Given the description of an element on the screen output the (x, y) to click on. 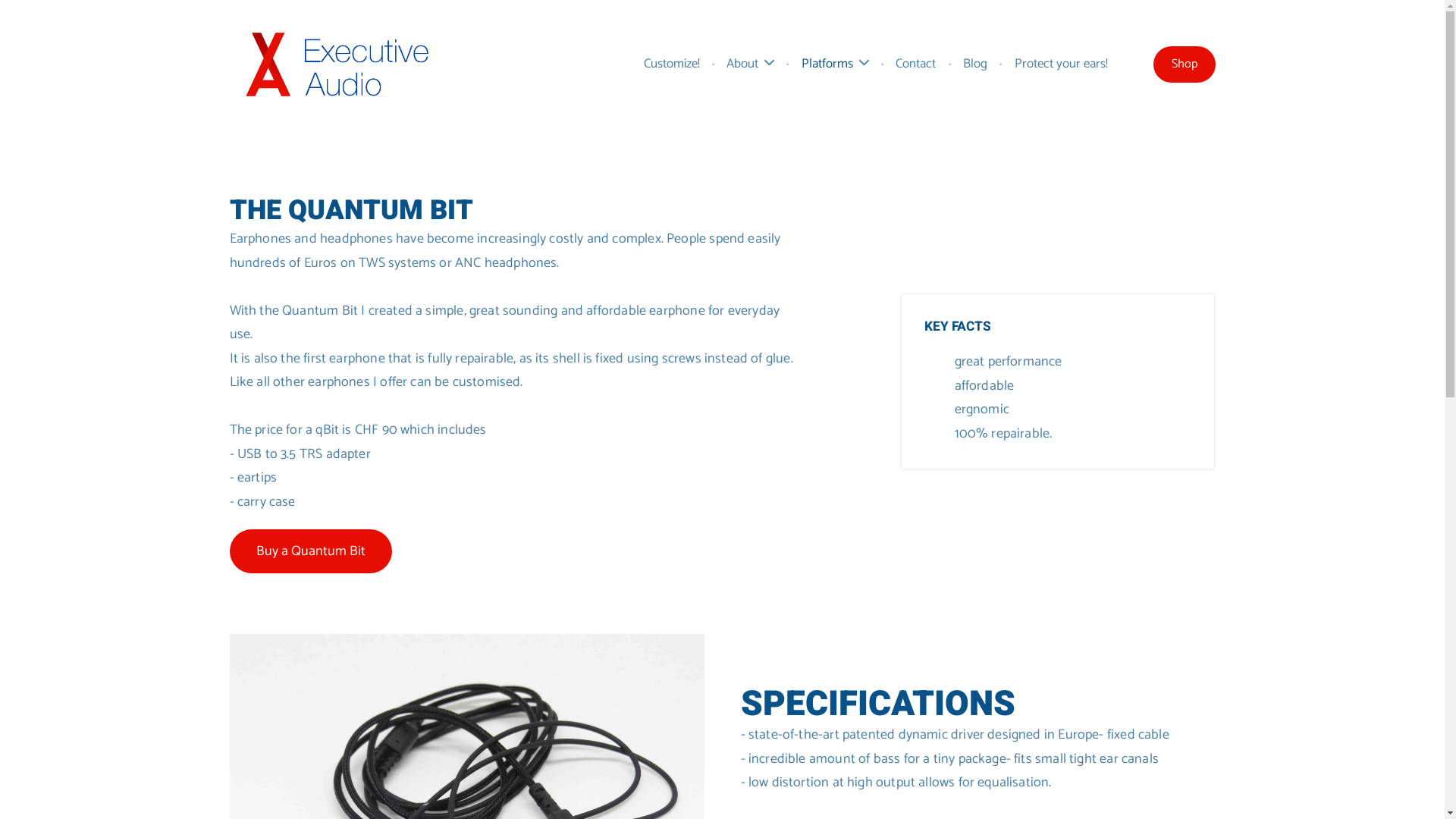
Shop Element type: text (1183, 64)
Contact Element type: text (915, 63)
Protect your ears! Element type: text (1061, 63)
Customize! Element type: text (671, 63)
Blog Element type: text (974, 63)
Buy a Quantum Bit Element type: text (310, 551)
